Given the description of an element on the screen output the (x, y) to click on. 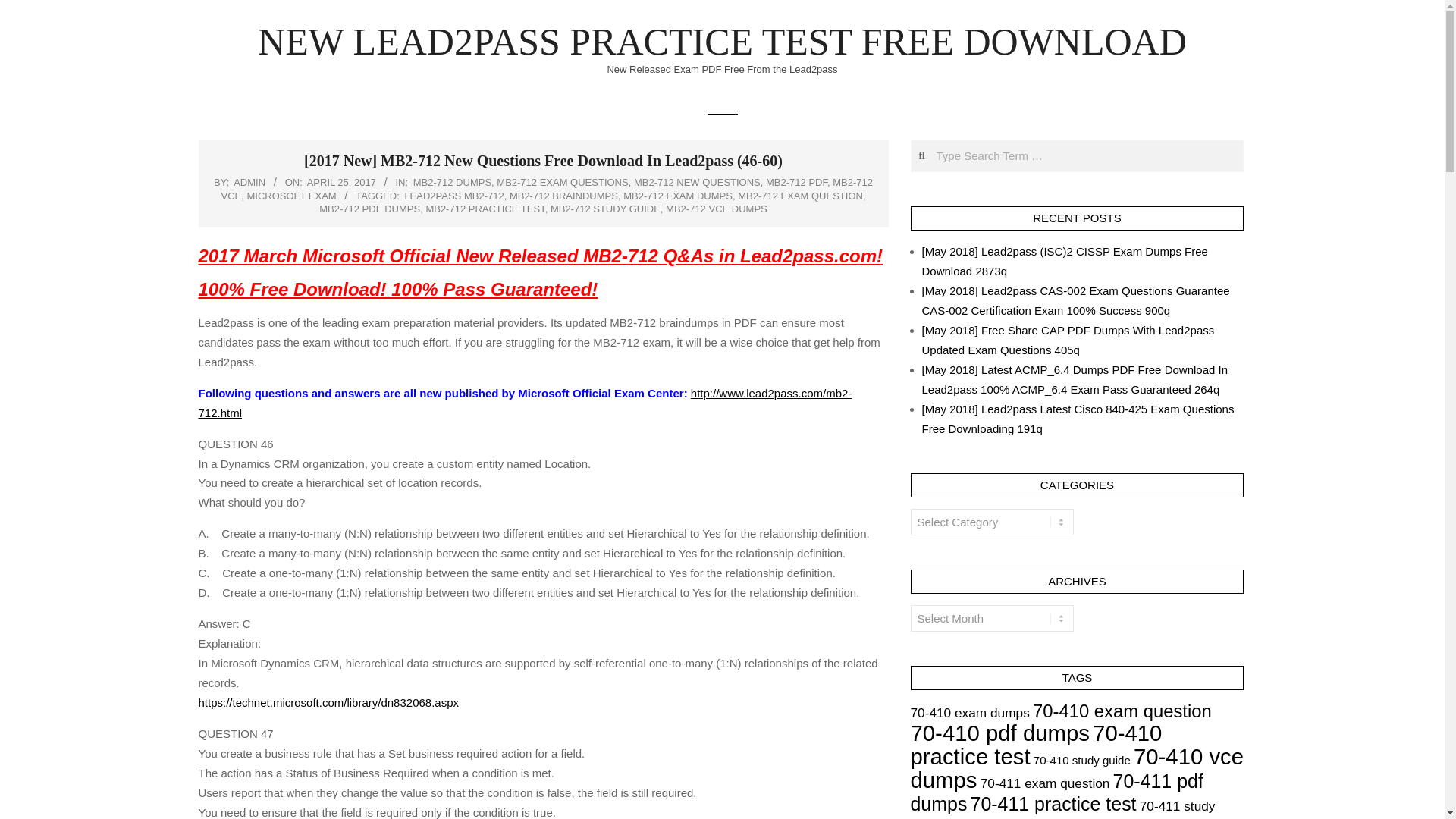
MB2-712 STUDY GUIDE (605, 208)
MB2-712 VCE DUMPS (716, 208)
Tuesday, April 25, 2017, 7:38 am (341, 182)
70-411 study guide (1062, 808)
70-410 exam dumps (969, 712)
70-411 practice test (1054, 803)
ADMIN (248, 182)
70-411 pdf dumps (1056, 792)
MB2-712 PRACTICE TEST (484, 208)
MB2-712 VCE (546, 188)
